Given the description of an element on the screen output the (x, y) to click on. 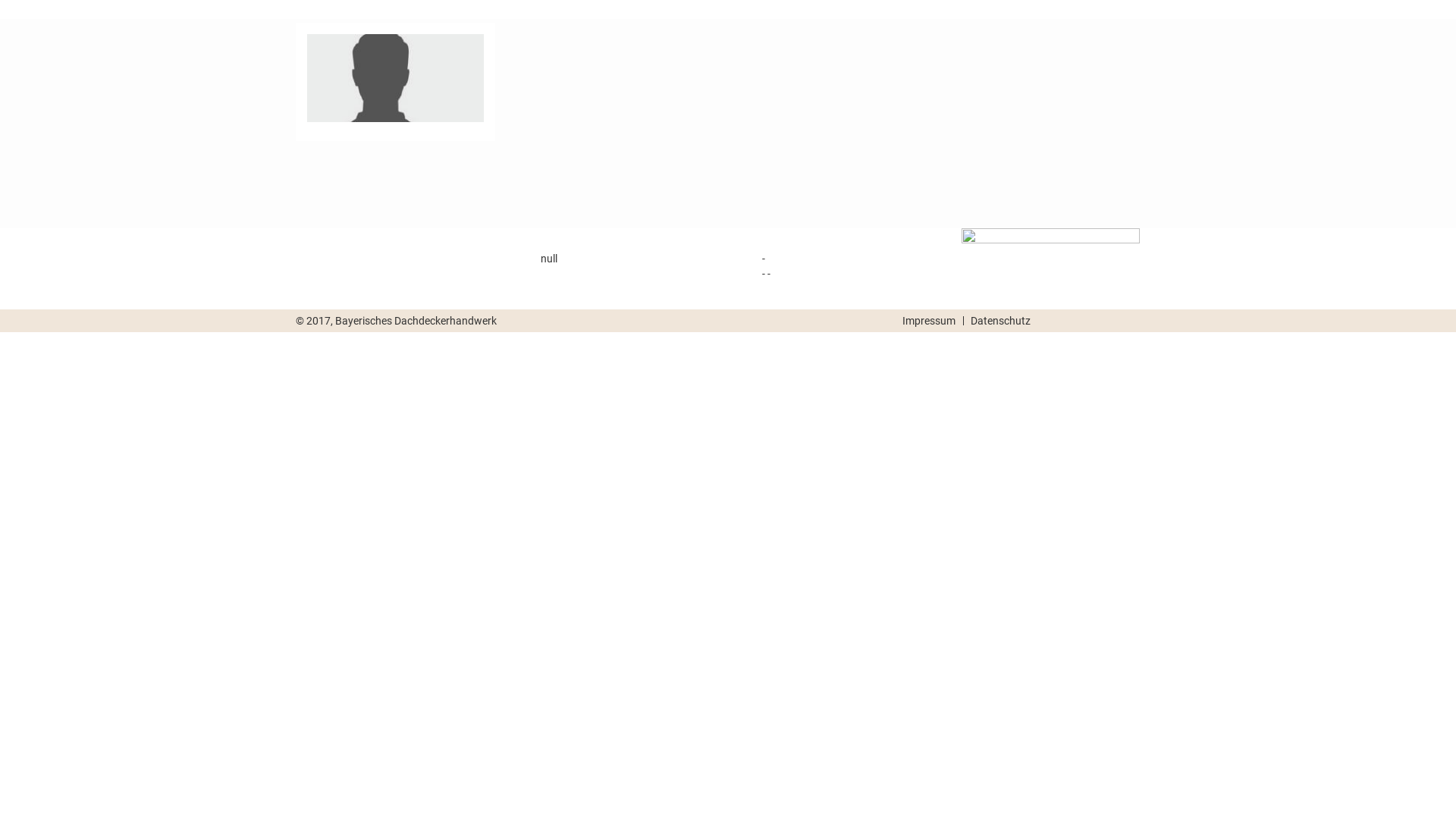
Impressum Element type: text (924, 320)
Datenschutz Element type: text (996, 320)
